Given the description of an element on the screen output the (x, y) to click on. 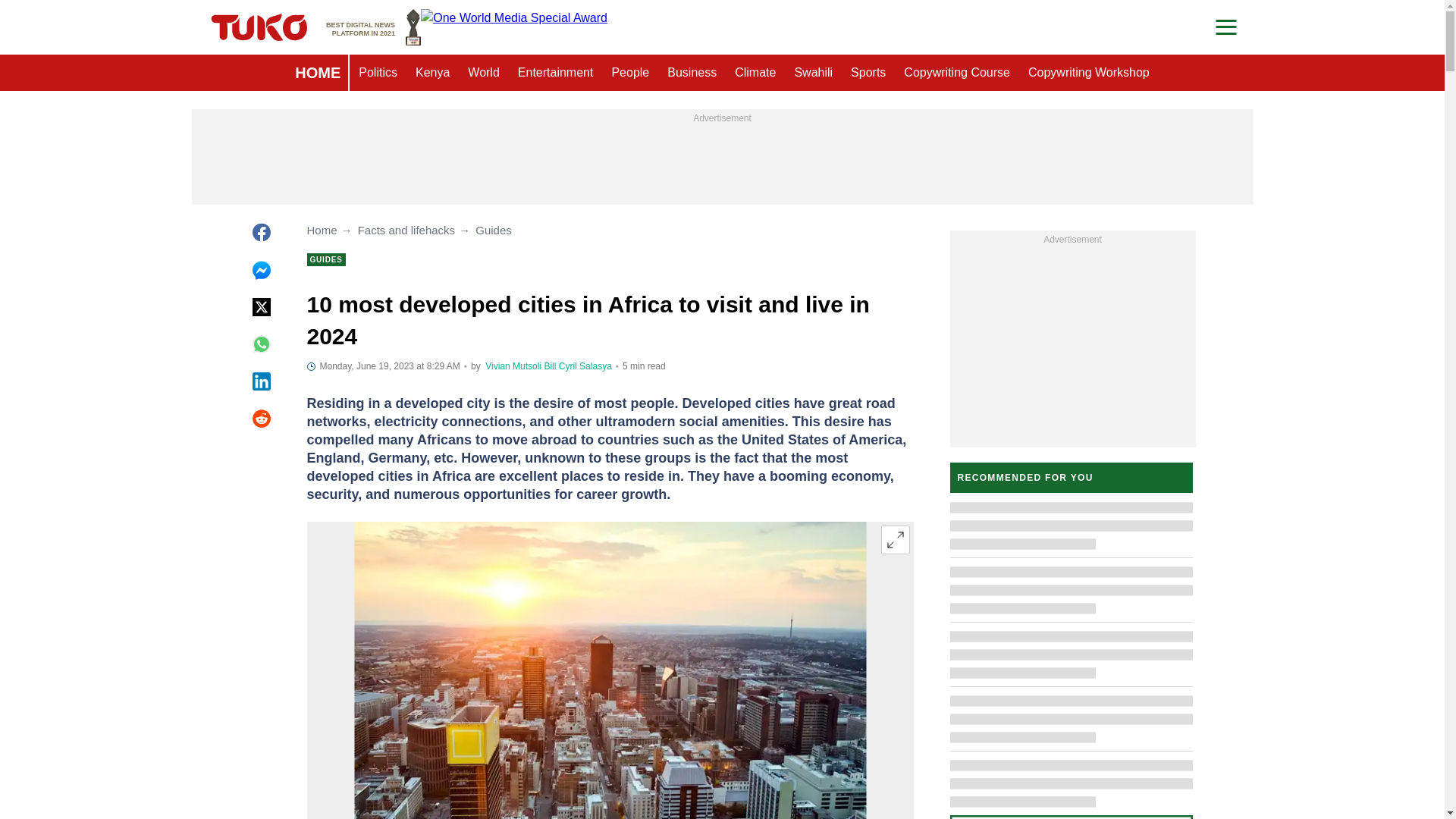
Sports (868, 72)
Entertainment (555, 72)
People (630, 72)
Copywriting Workshop (1088, 72)
Kenya (432, 72)
World (483, 72)
Expand image (895, 539)
Climate (754, 72)
Swahili (812, 72)
